Given the description of an element on the screen output the (x, y) to click on. 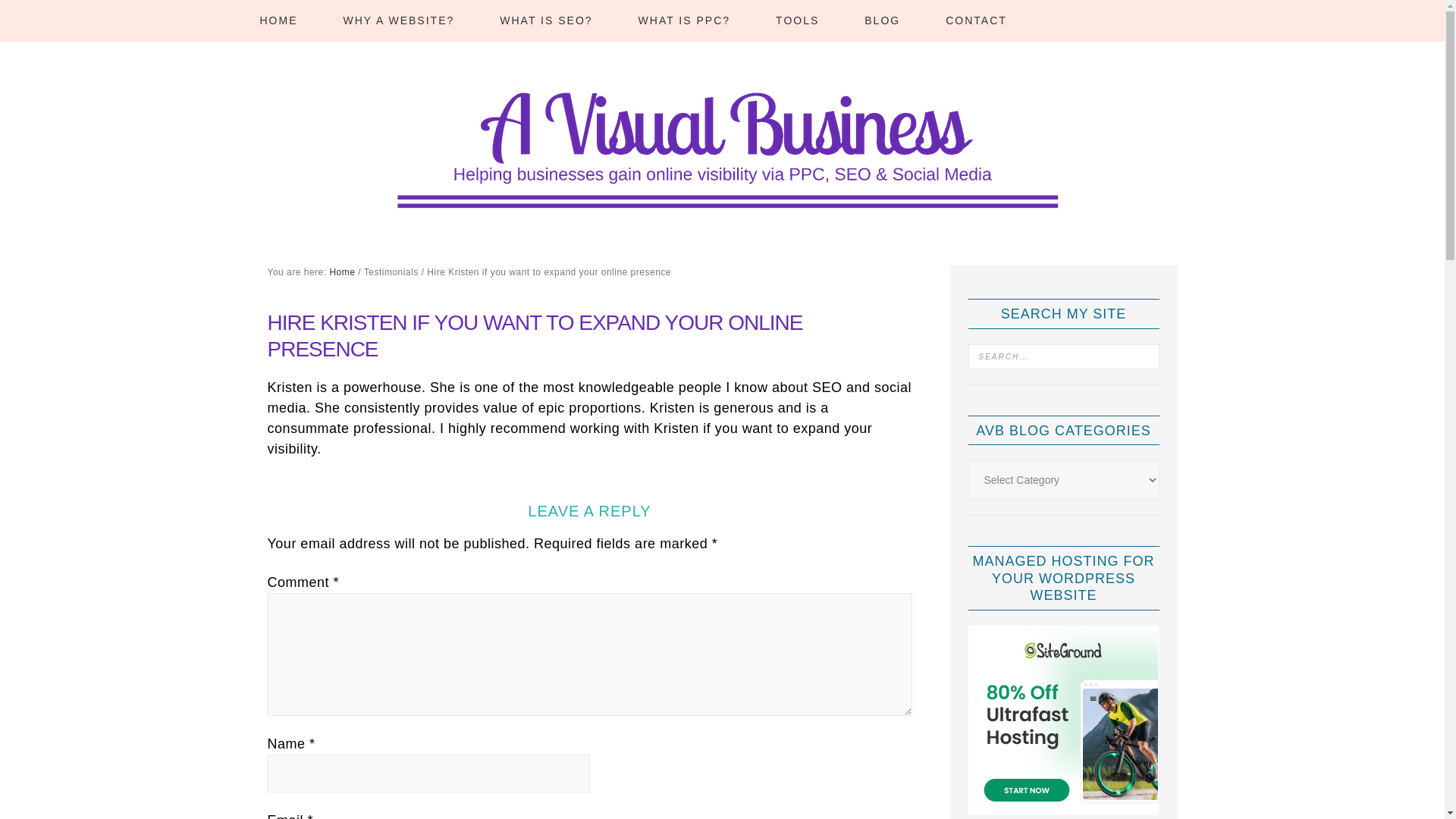
BLOG (882, 20)
WHAT IS SEO? (545, 20)
CONTACT (976, 20)
Home (342, 271)
WHY A WEBSITE? (398, 20)
TOOLS (796, 20)
HOME (277, 20)
